Given the description of an element on the screen output the (x, y) to click on. 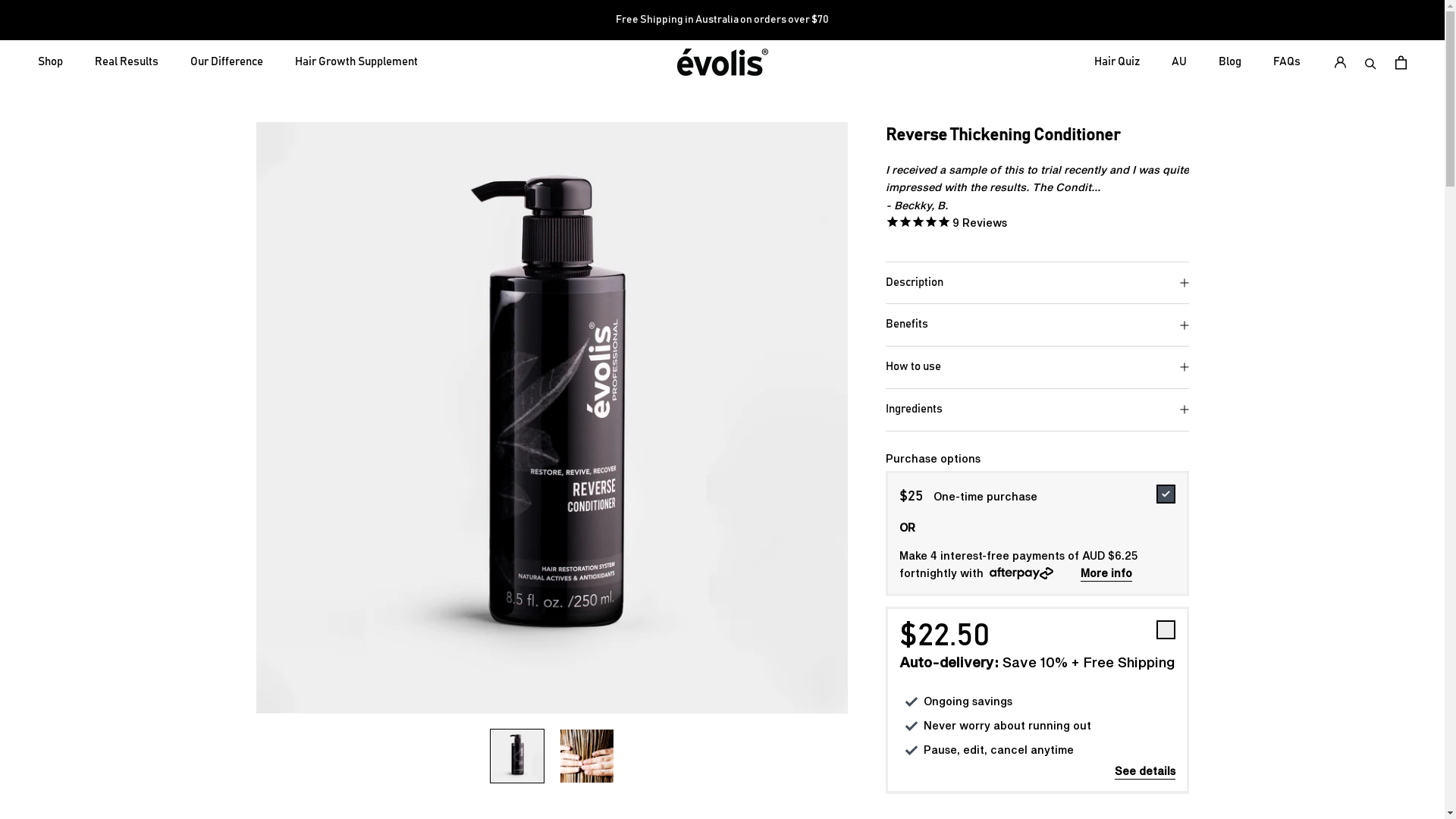
Blog
Blog Element type: text (1229, 61)
Real Results
Real Results Element type: text (126, 61)
Shop
Shop Element type: text (49, 61)
Benefits Element type: text (1037, 324)
Our Difference Element type: text (226, 61)
Hair Growth Supplement
Hair Growth Supplement Element type: text (355, 61)
More info Element type: text (1105, 572)
Ingredients Element type: text (1037, 409)
FAQs
FAQs Element type: text (1286, 61)
AU Element type: text (1178, 61)
Description Element type: text (1037, 283)
See details Element type: text (1144, 770)
Hair Quiz
Hair Quiz Element type: text (1116, 61)
How to use Element type: text (1037, 367)
